Given the description of an element on the screen output the (x, y) to click on. 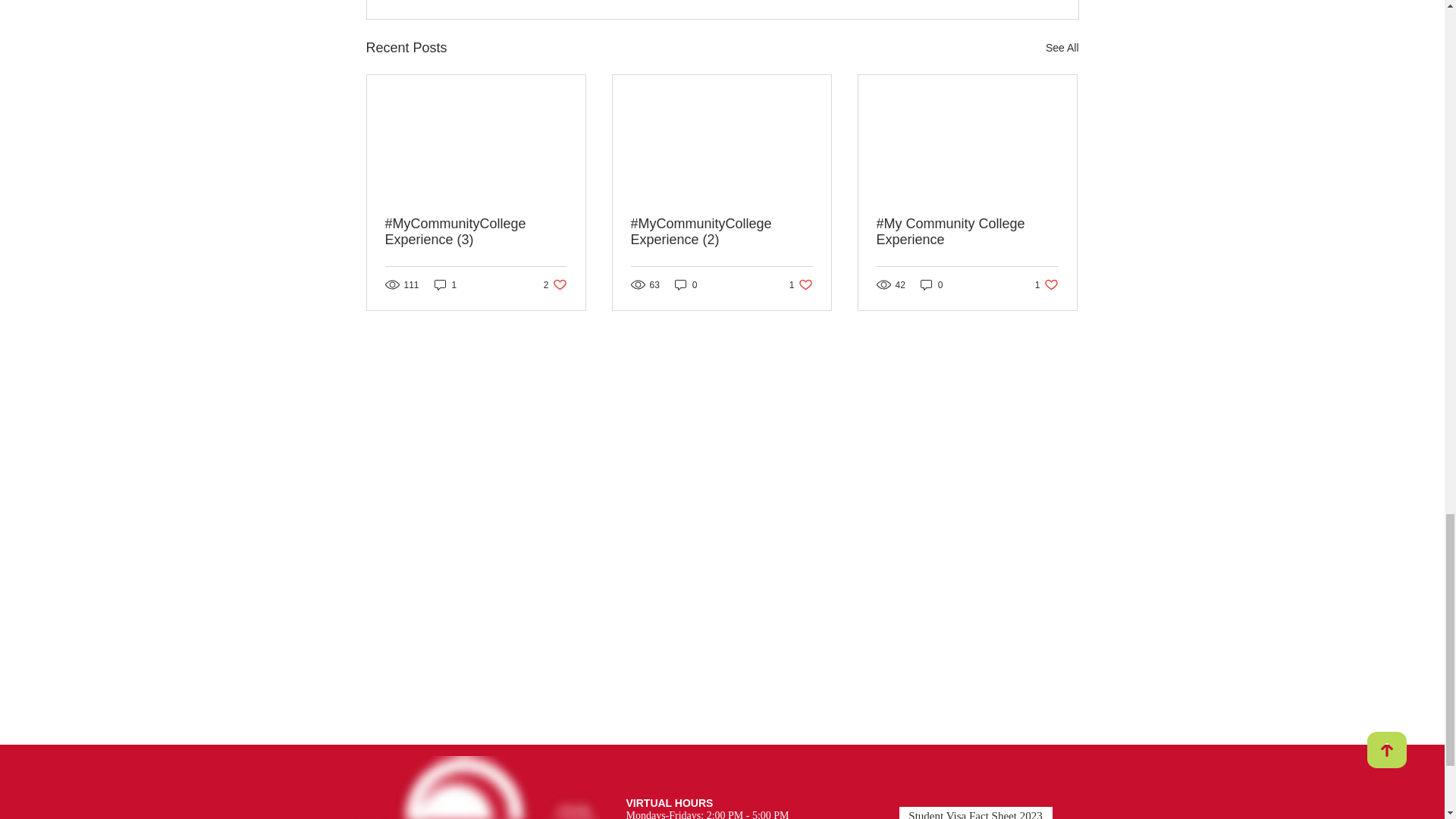
See All (1046, 284)
0 (1061, 47)
Student Visa Fact Sheet 2023 (685, 284)
0 (975, 812)
1 (931, 284)
